Given the description of an element on the screen output the (x, y) to click on. 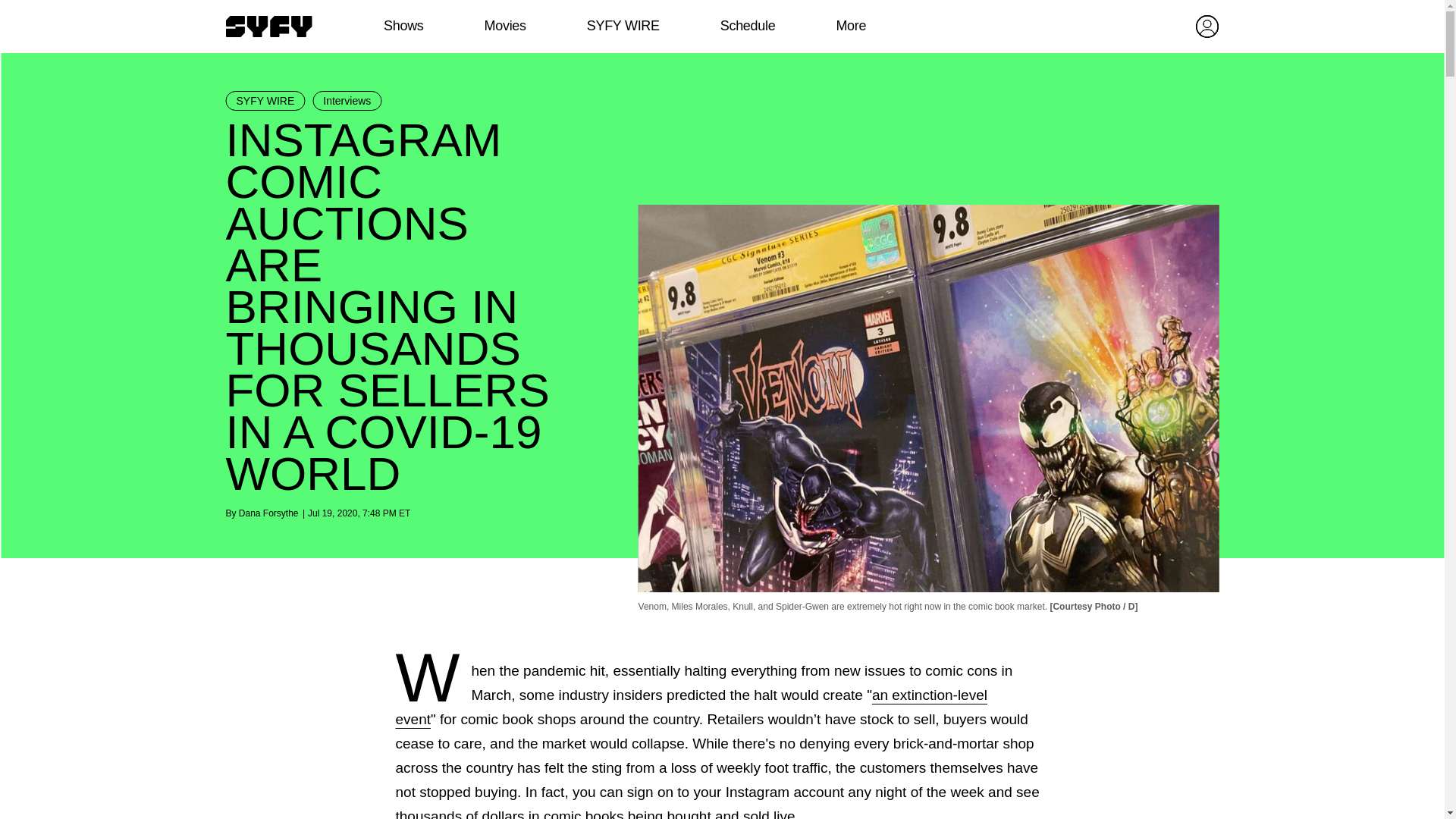
SYFY WIRE (622, 26)
Shows (403, 26)
Dana Forsythe (268, 512)
More (850, 26)
Schedule (746, 26)
Movies (504, 26)
SYFY WIRE (265, 100)
Interviews (347, 100)
an extinction-level event (691, 707)
